Given the description of an element on the screen output the (x, y) to click on. 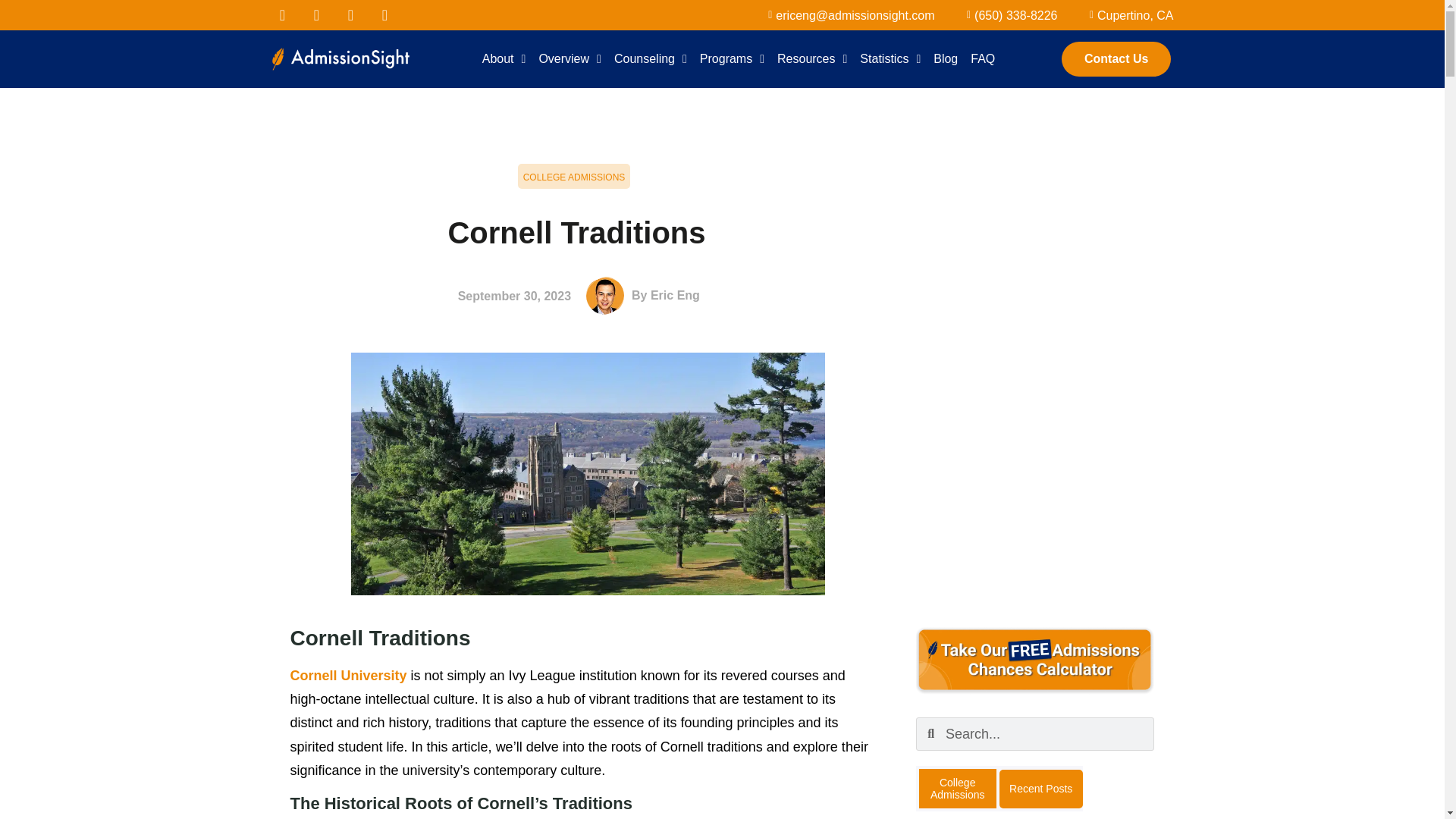
Instagram (384, 15)
Counseling (650, 59)
Twitter (316, 15)
Linkedin (349, 15)
About (504, 59)
Facebook (281, 15)
Overview (569, 59)
Programs (731, 59)
